Given the description of an element on the screen output the (x, y) to click on. 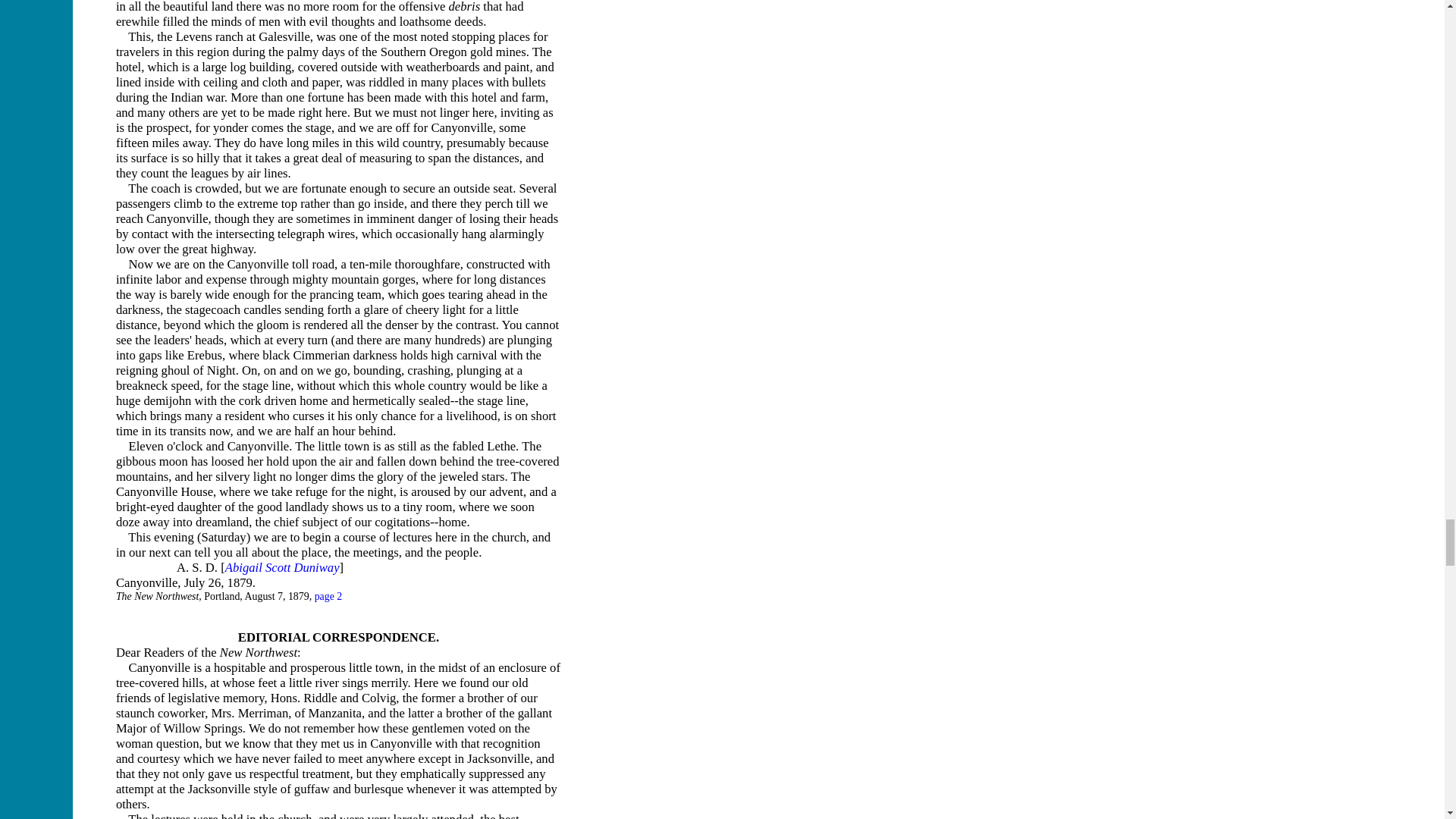
Abigail Scott Duniway (282, 567)
page 2 (328, 595)
